Given the description of an element on the screen output the (x, y) to click on. 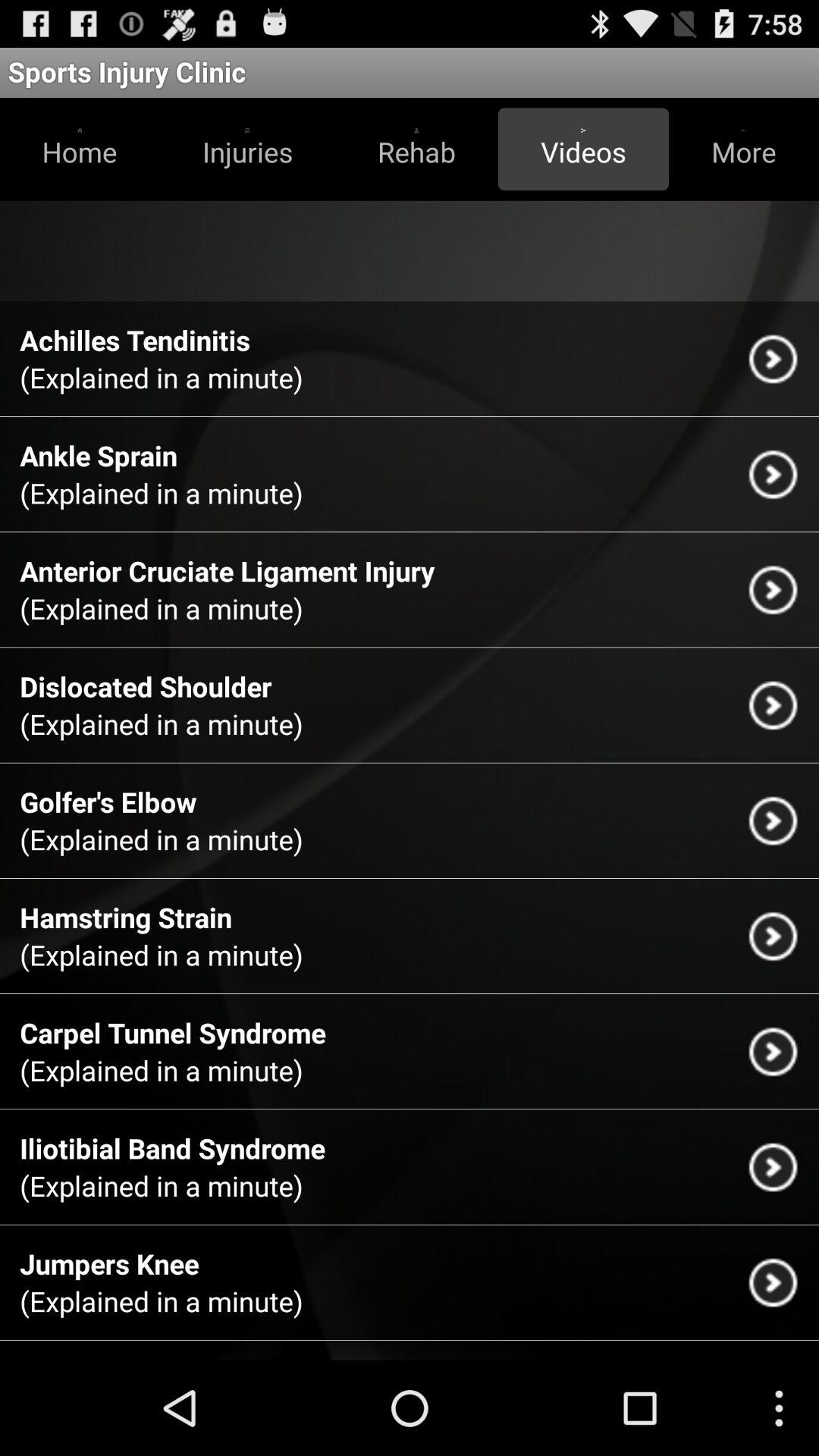
open the item to the left of rehab item (246, 149)
